Given the description of an element on the screen output the (x, y) to click on. 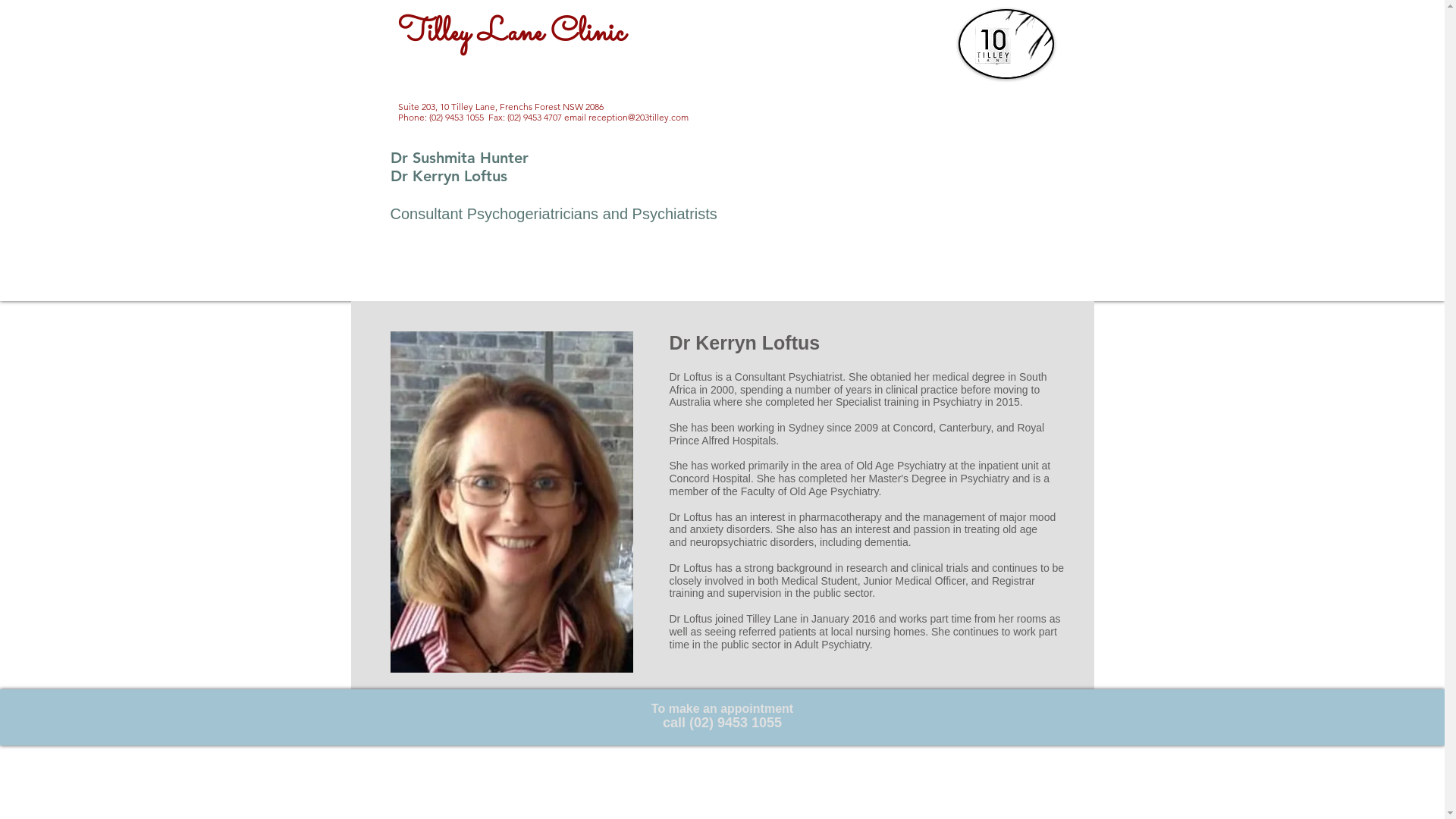
Dr K Loftus.jpg Element type: hover (510, 501)
IMG_6791.jpg 2014-3-20-14:33:9 Element type: hover (1006, 43)
reception@203tilley.com Element type: text (638, 116)
